Given the description of an element on the screen output the (x, y) to click on. 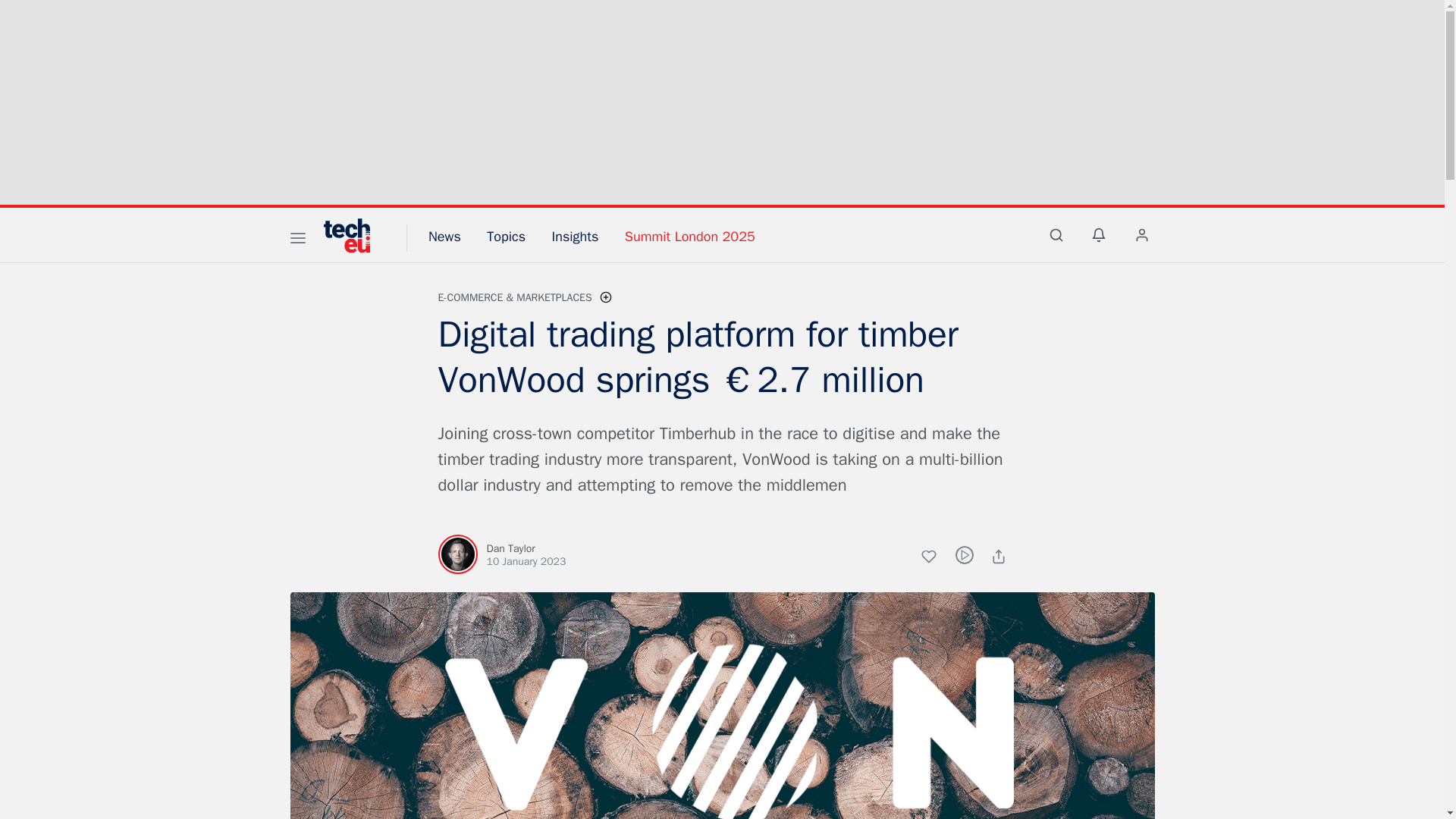
Topics (505, 236)
Summit London 2025 (689, 236)
Insights (574, 236)
Like (936, 558)
News (444, 236)
Listen this article (964, 555)
